Given the description of an element on the screen output the (x, y) to click on. 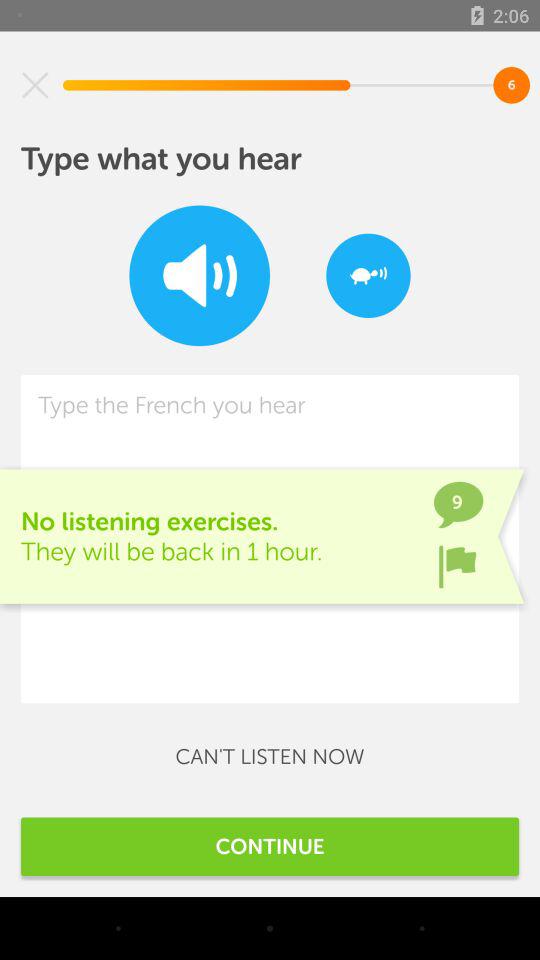
swipe until can t listen item (270, 756)
